Given the description of an element on the screen output the (x, y) to click on. 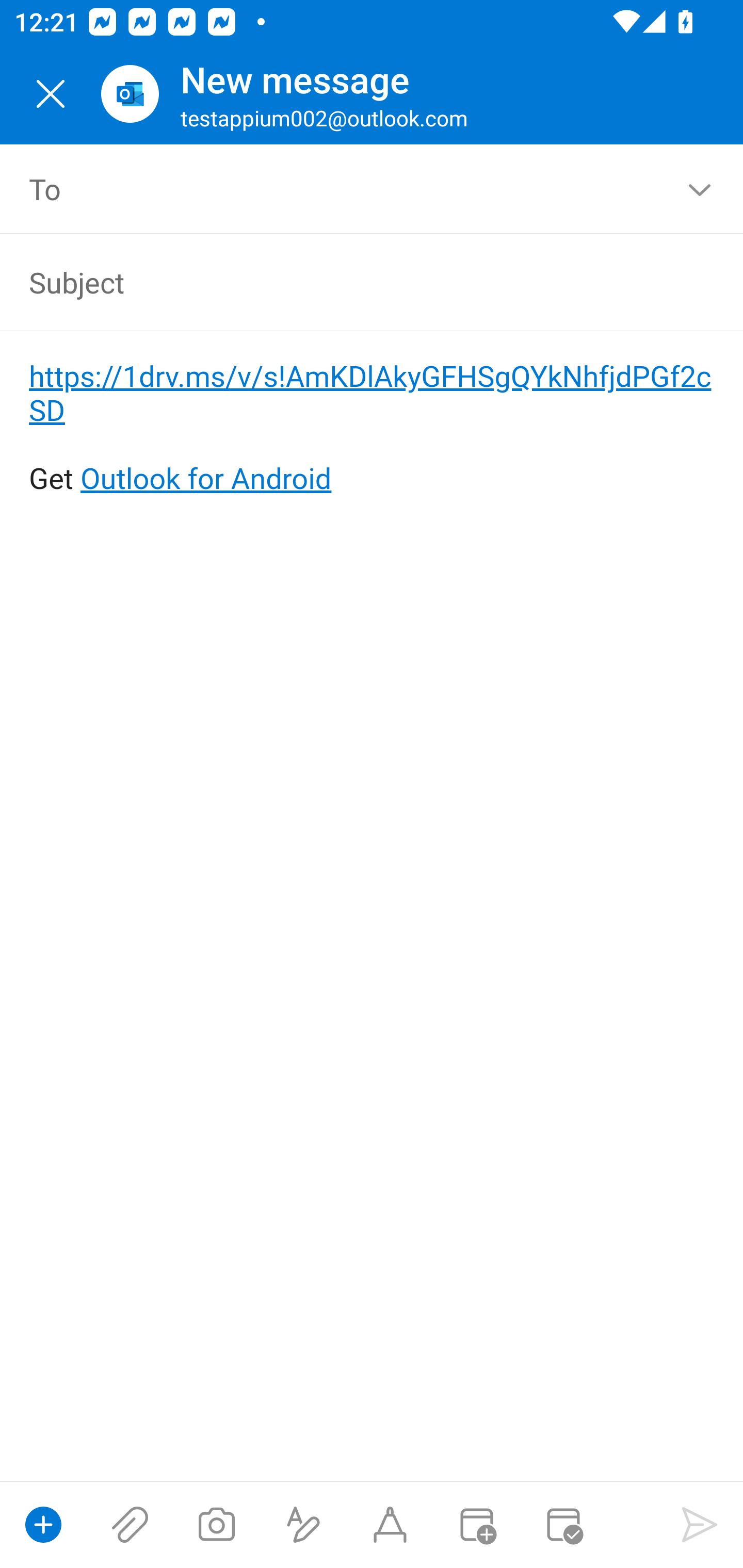
Close (50, 93)
Subject (342, 281)
Show compose options (43, 1524)
Attach files (129, 1524)
Take a photo (216, 1524)
Show formatting options (303, 1524)
Start Ink compose (389, 1524)
Convert to event (476, 1524)
Send availability (563, 1524)
Send (699, 1524)
